Given the description of an element on the screen output the (x, y) to click on. 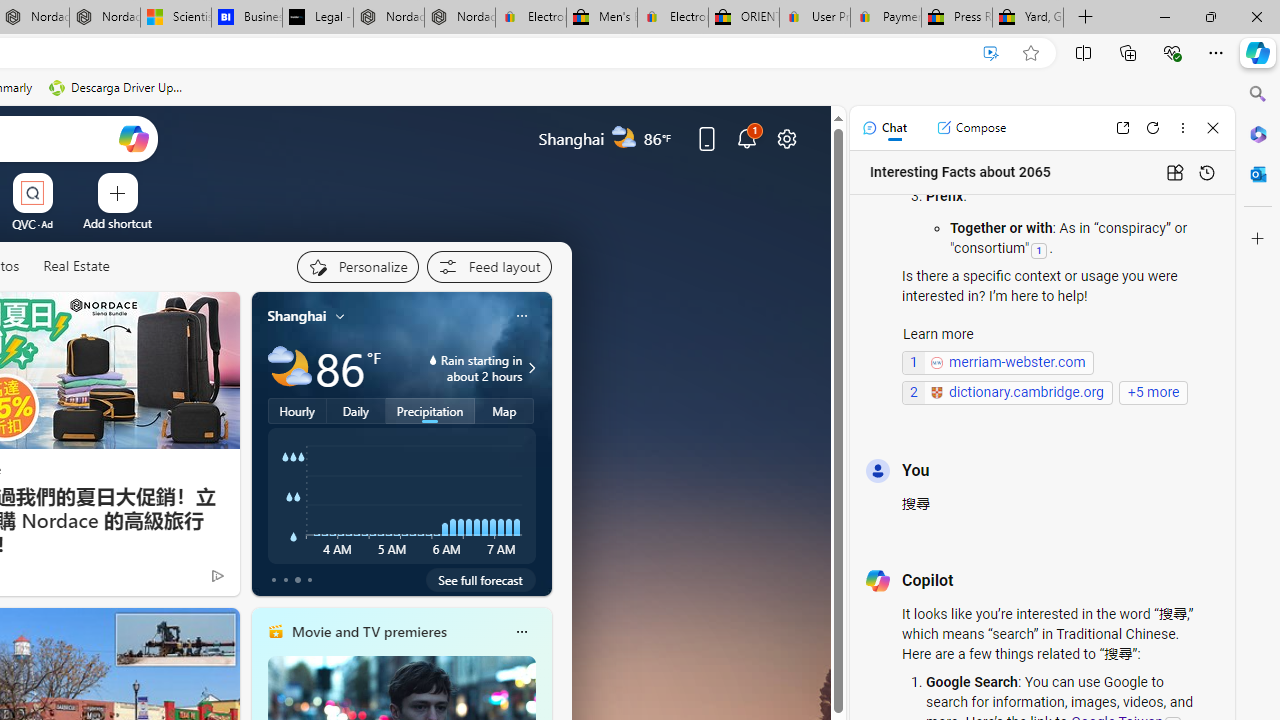
This story is trending (178, 579)
My location (340, 315)
Page settings (786, 138)
Personalize your feed" (356, 266)
